Given the description of an element on the screen output the (x, y) to click on. 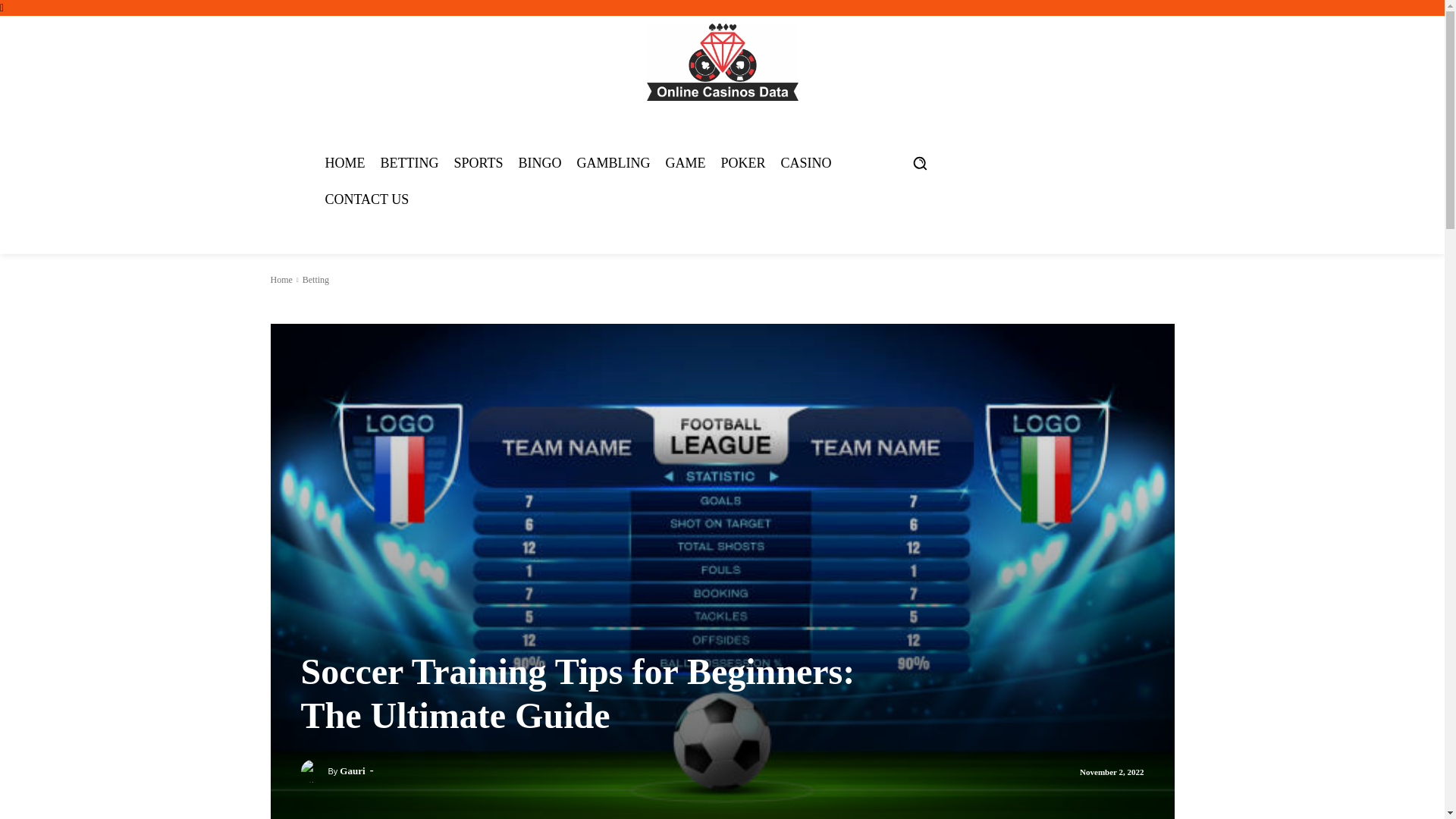
BINGO (540, 162)
SPORTS (478, 162)
HOME (344, 162)
View all posts in Betting (315, 279)
POKER (743, 162)
Betting (315, 279)
Home (280, 279)
CASINO (805, 162)
Gauri (313, 771)
CONTACT US (366, 198)
GAMBLING (613, 162)
BETTING (292, 307)
BETTING (409, 162)
GAME (685, 162)
